Given the description of an element on the screen output the (x, y) to click on. 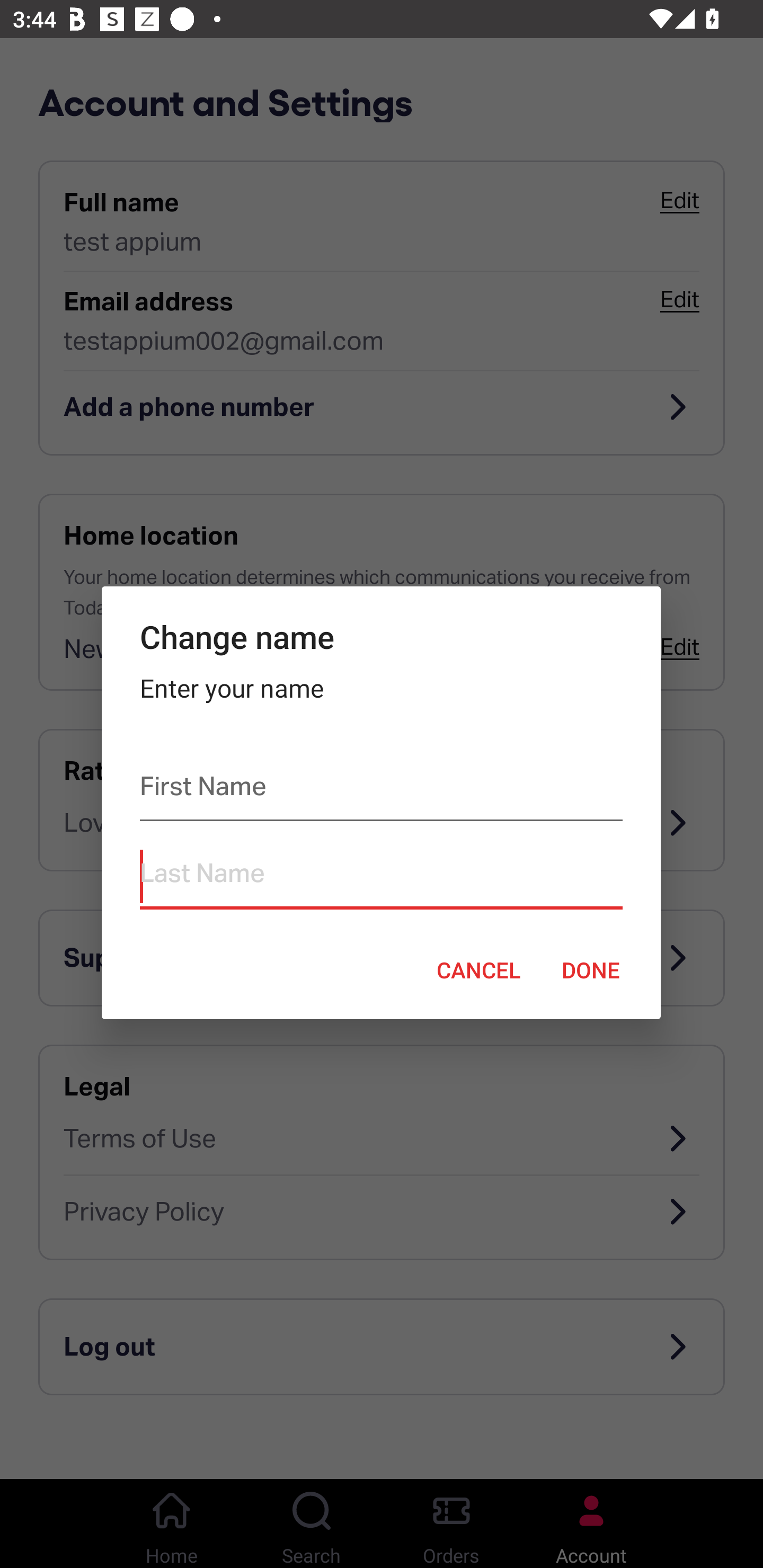
First Name (380, 790)
Last Name (380, 877)
CANCEL (478, 969)
DONE (590, 969)
